Given the description of an element on the screen output the (x, y) to click on. 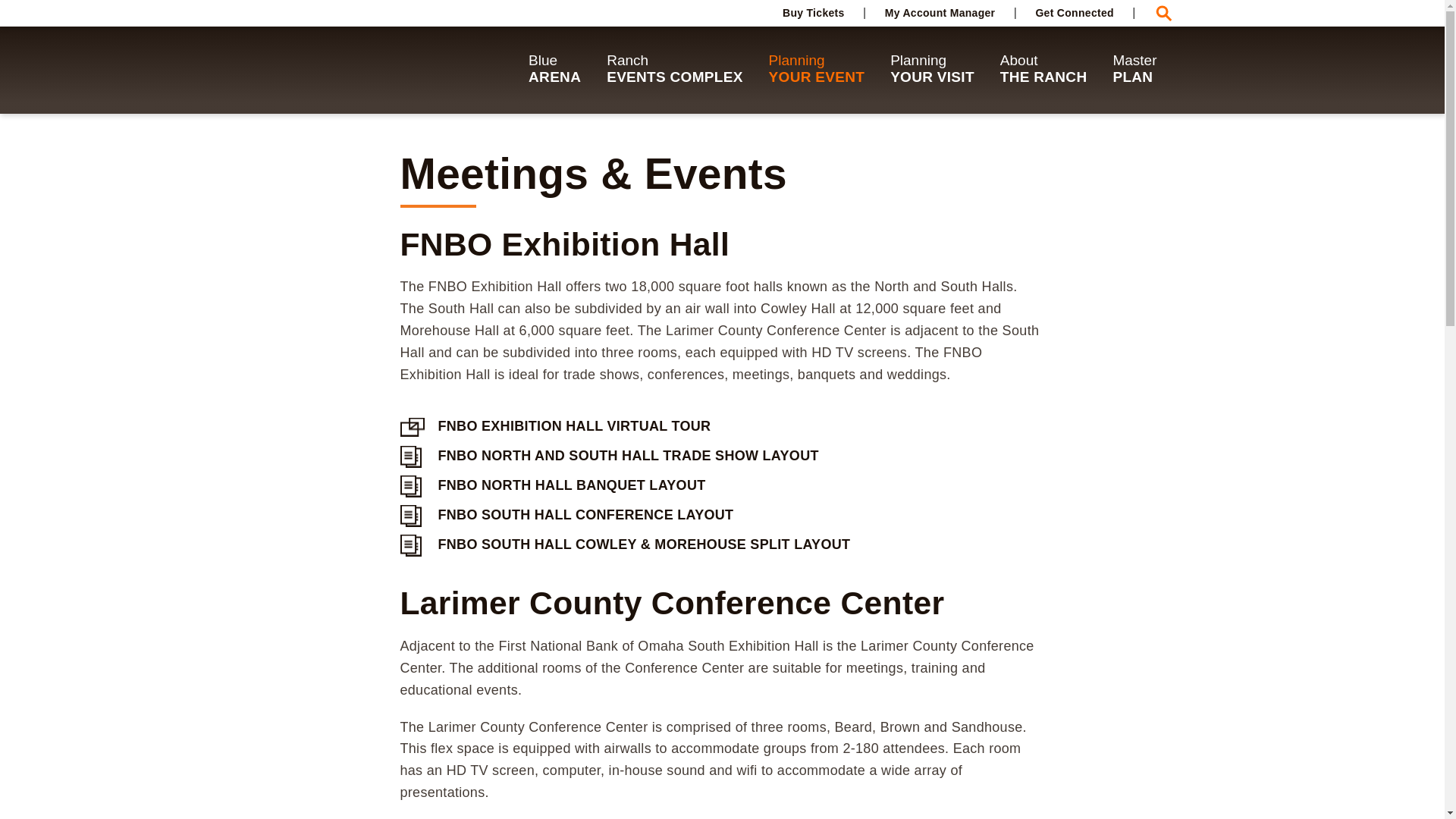
My Account Manager (939, 12)
Buy Tickets (813, 12)
The Ranch Events Complex, Loveland Colorado (381, 70)
The Ranch Events Complex, Loveland Colorado (381, 70)
My Account Manager (554, 69)
Get Connected (939, 12)
Buy Tickets (1074, 12)
Get Connected (813, 12)
